Given the description of an element on the screen output the (x, y) to click on. 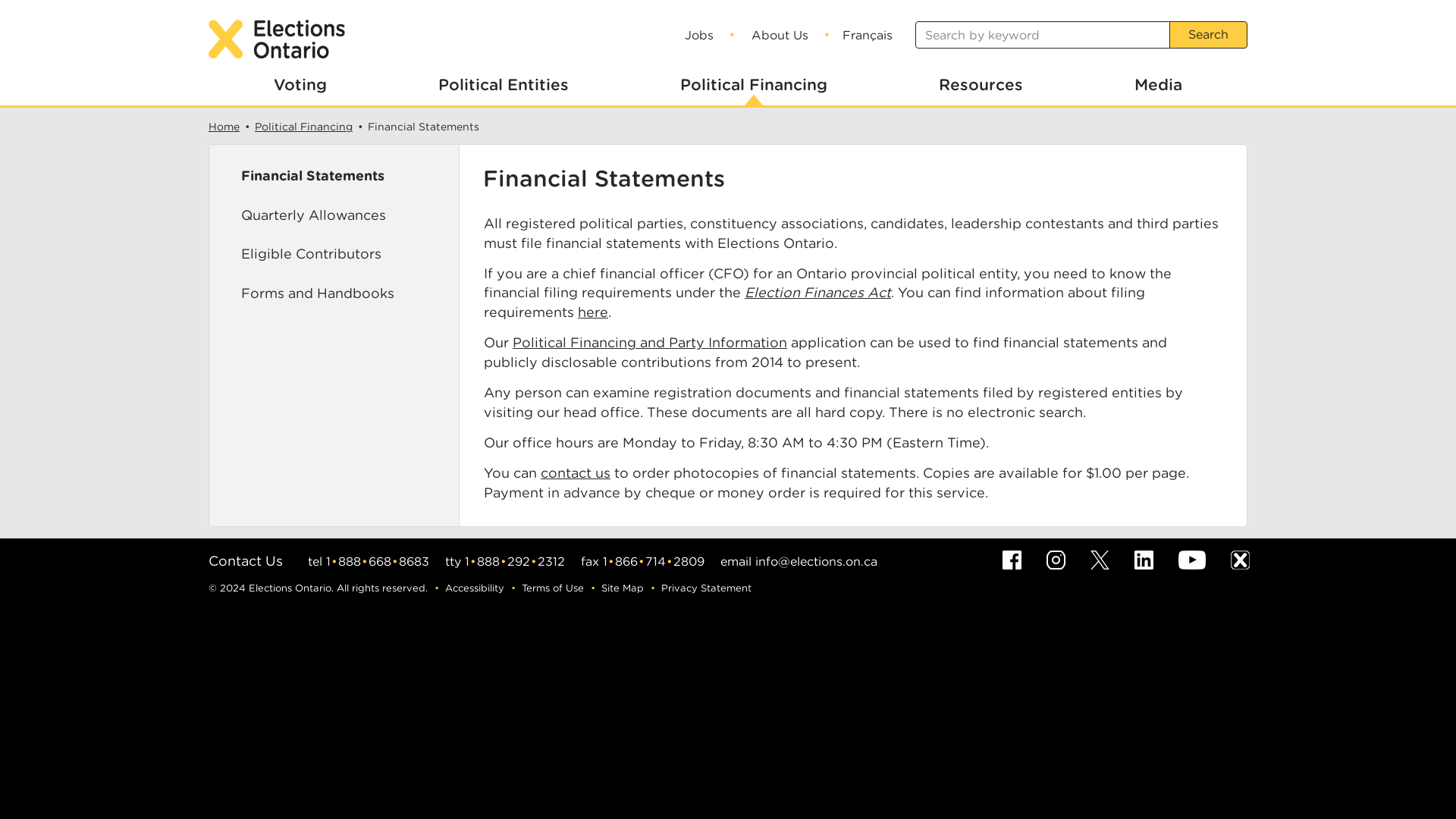
Opens in the same tab (593, 311)
Political Entities (503, 80)
Political Entities (509, 85)
Search (1208, 34)
Political Financing (753, 80)
Resources (981, 80)
Opens in a new tab (649, 342)
Opens in the same tab (575, 472)
Opens in a new tab (817, 292)
Voting (299, 80)
